Given the description of an element on the screen output the (x, y) to click on. 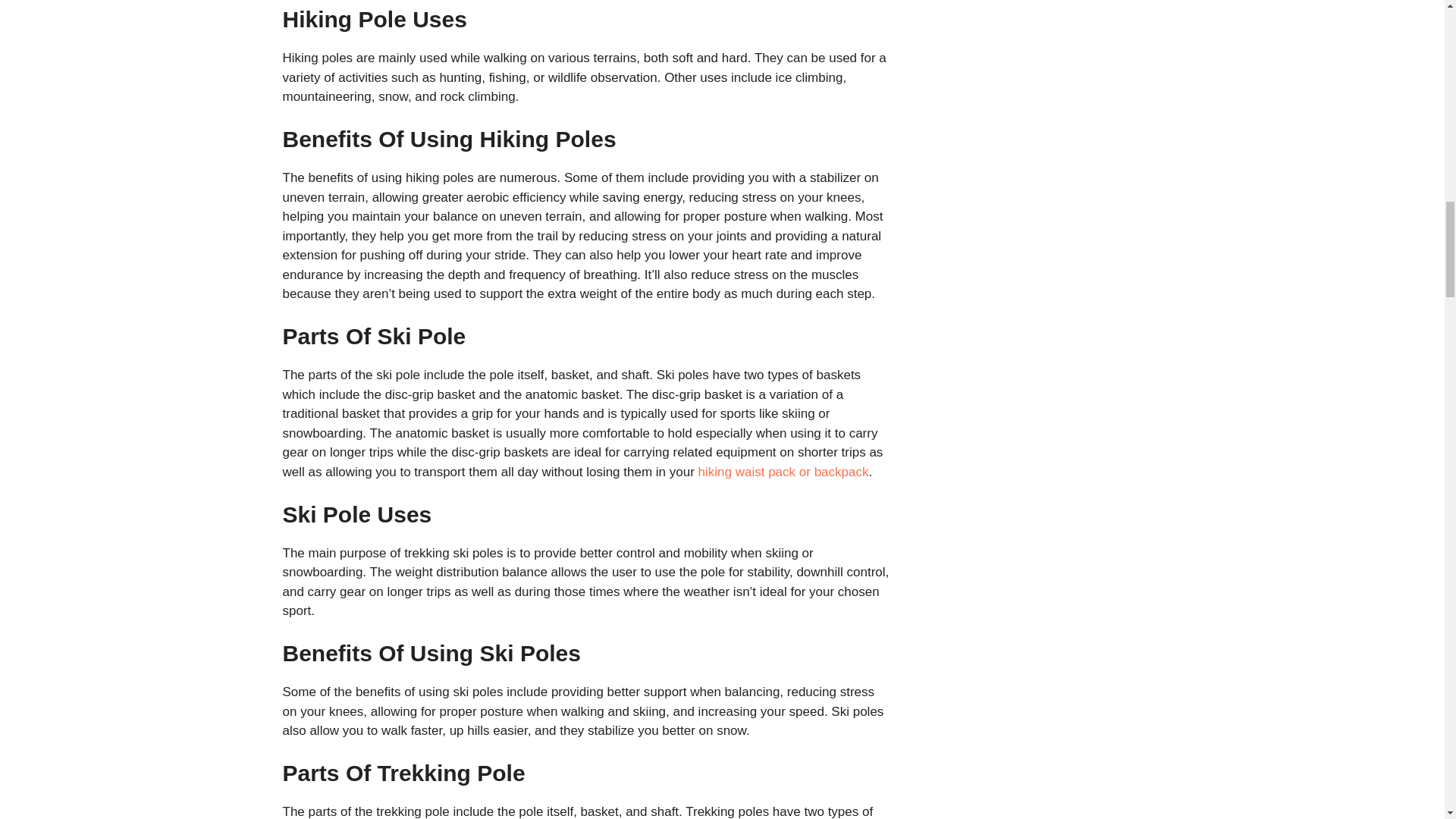
hiking waist pack or backpack (783, 472)
